Given the description of an element on the screen output the (x, y) to click on. 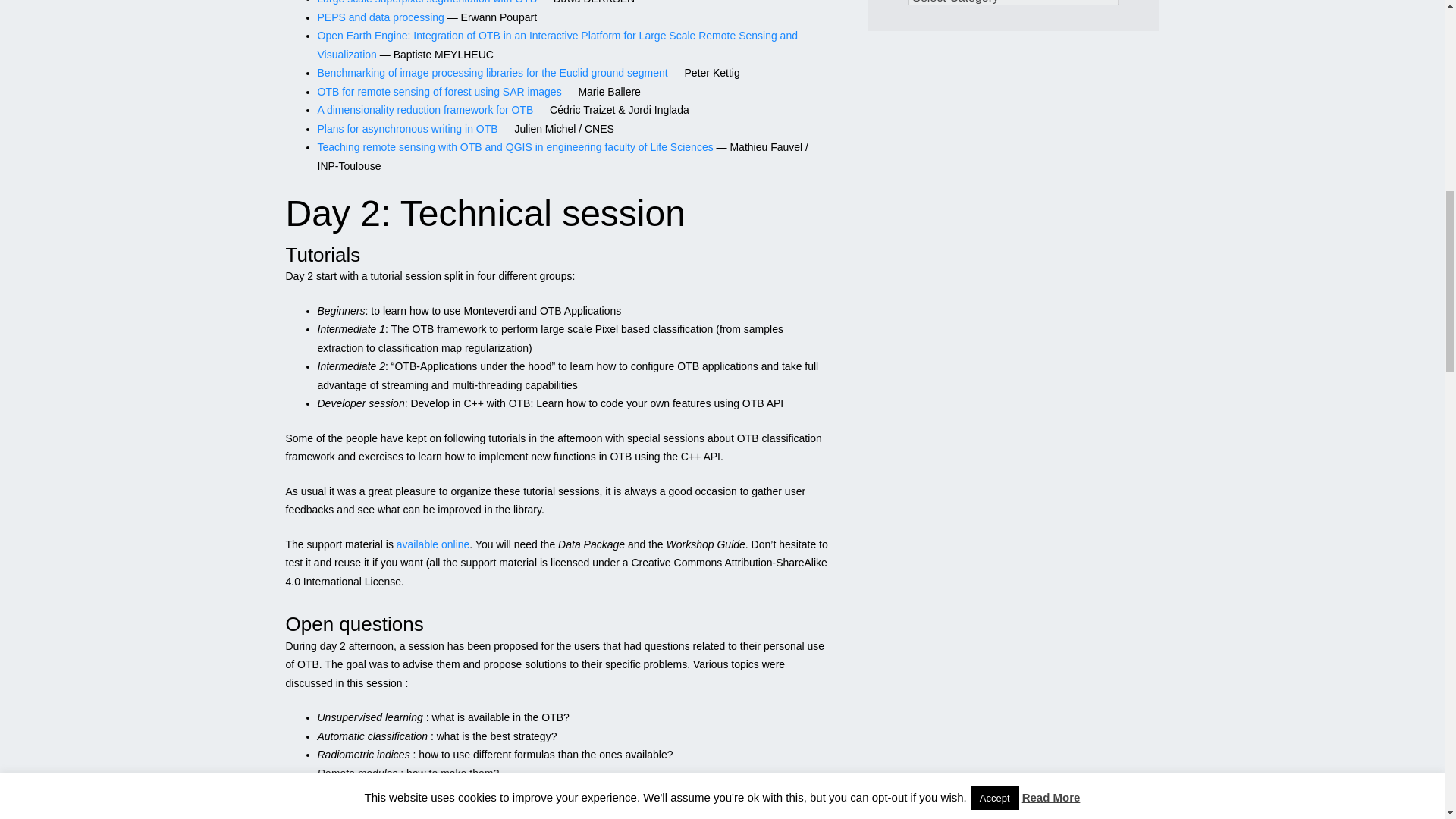
OTB for remote sensing of forest using SAR images (438, 91)
A dimensionality reduction framework for OTB (424, 110)
available online (433, 544)
Large scale superpixel segmentation with OTB (426, 2)
PEPS and data processing (380, 17)
Plans for asynchronous writing in OTB (407, 128)
